Given the description of an element on the screen output the (x, y) to click on. 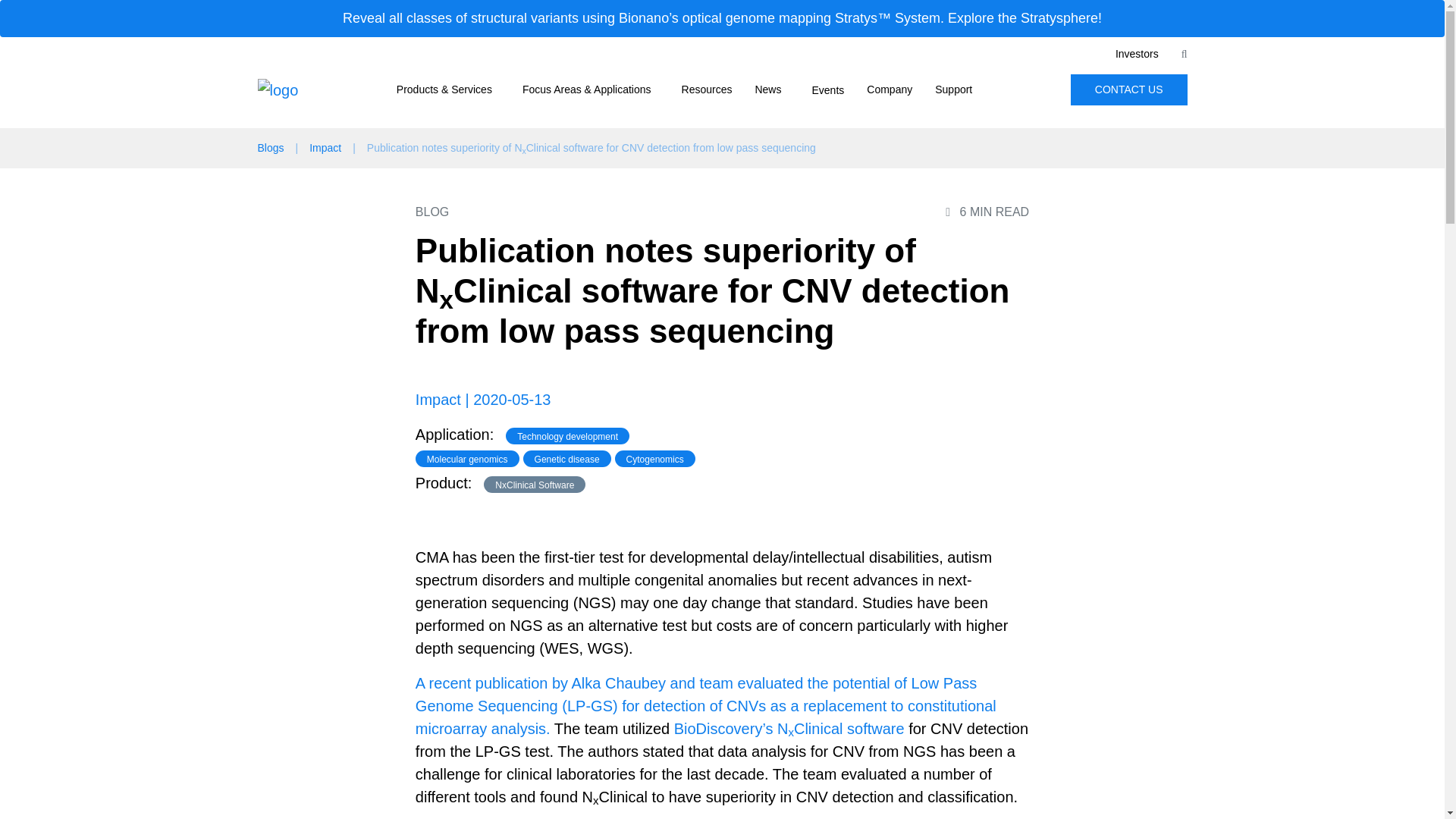
Company (889, 89)
Hematological Malignancies (667, 116)
OGM Data Services (900, 116)
Cytogenomics (483, 116)
Investors (1136, 53)
Resources (706, 89)
logo (277, 89)
Oncology (661, 116)
Events (827, 89)
Blogs (837, 116)
Genetic Disease (657, 116)
